Given the description of an element on the screen output the (x, y) to click on. 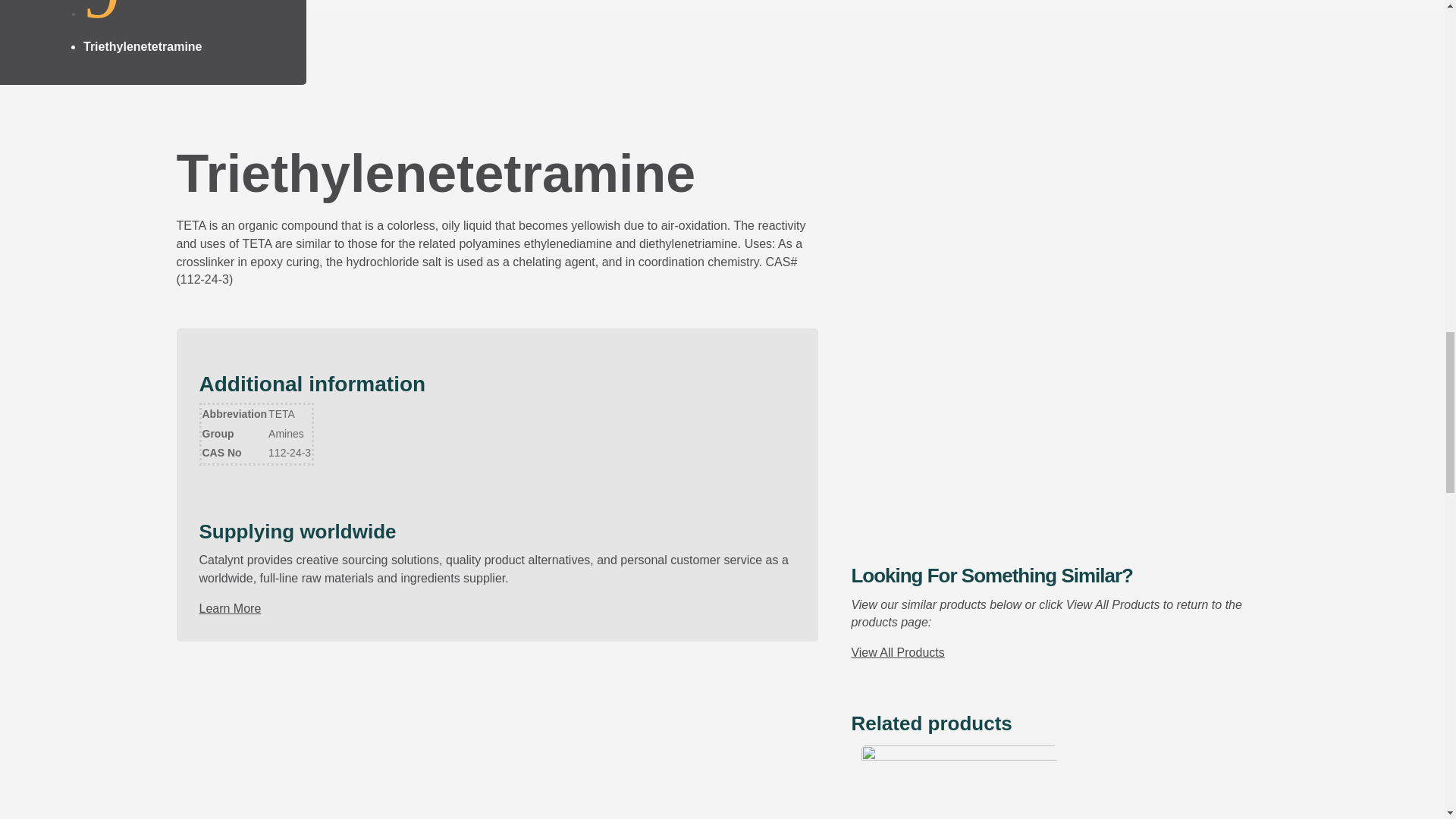
Bisphenol A (959, 782)
View All Products (896, 652)
Learn More (229, 608)
